Given the description of an element on the screen output the (x, y) to click on. 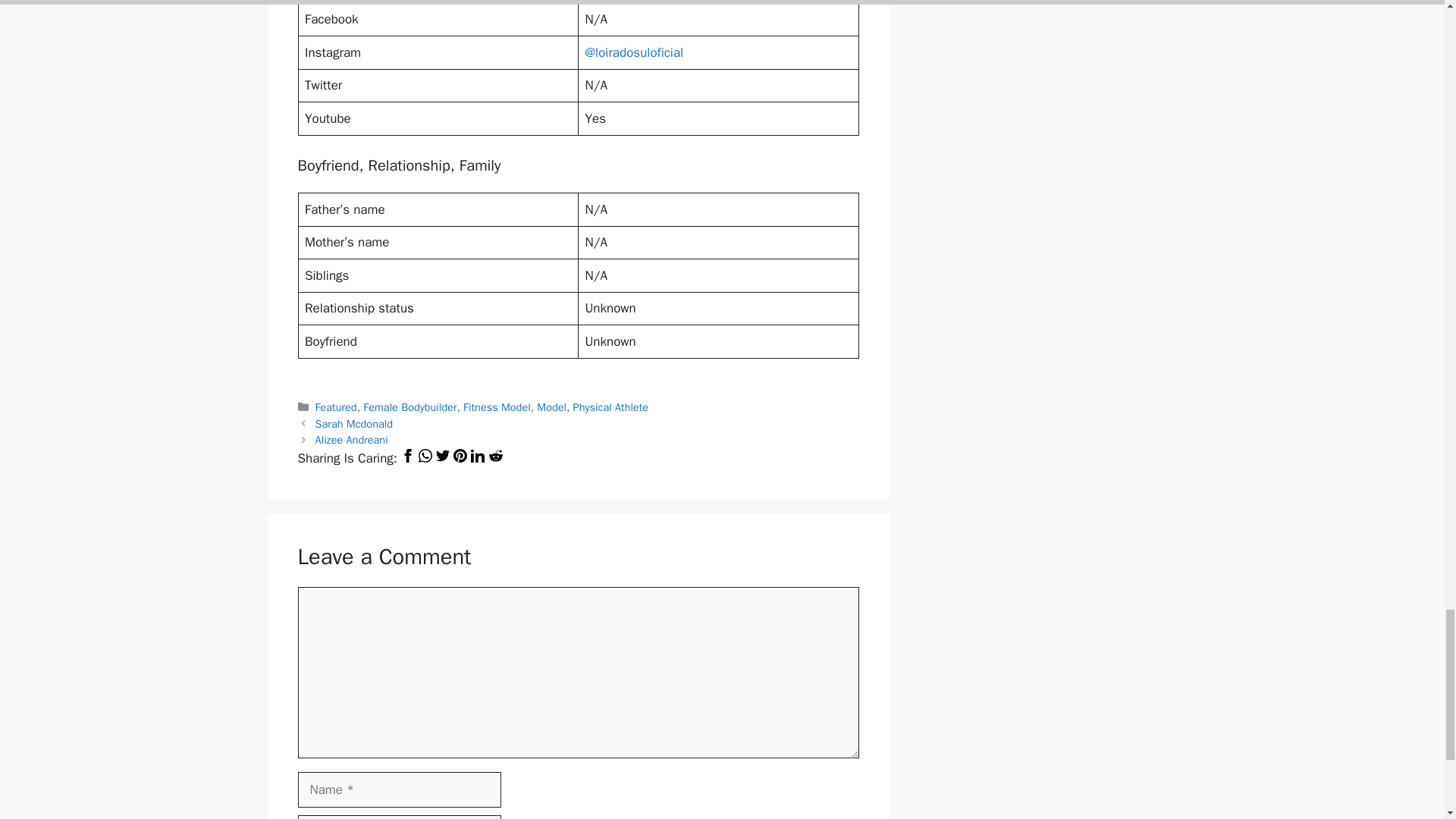
Model (551, 407)
Physical Athlete (610, 407)
Alizee Andreani (351, 439)
Fitness Model (497, 407)
Sarah Mcdonald (354, 423)
Female Bodybuilder (409, 407)
Featured (335, 407)
